Given the description of an element on the screen output the (x, y) to click on. 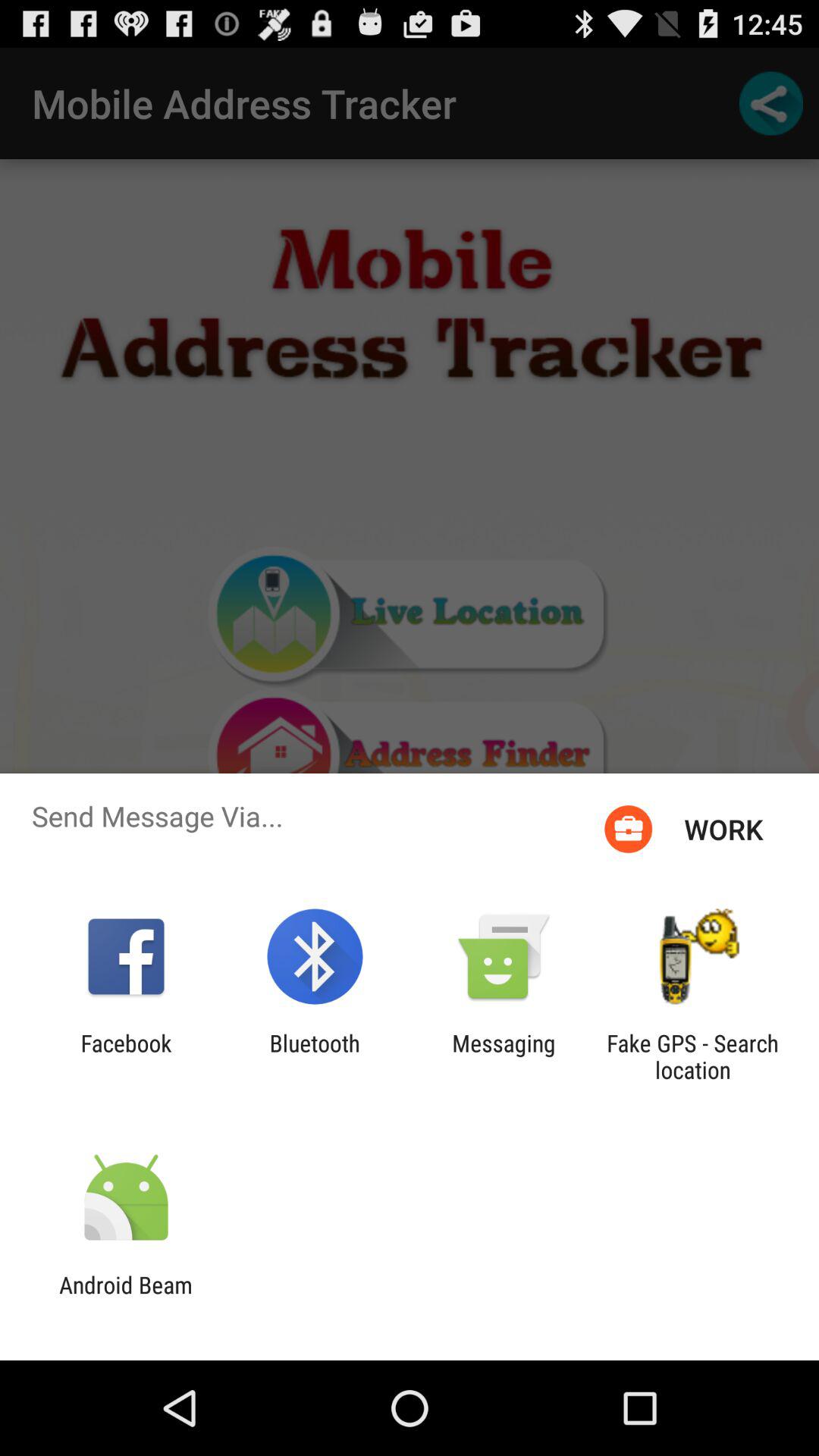
choose icon to the left of the messaging app (314, 1056)
